Given the description of an element on the screen output the (x, y) to click on. 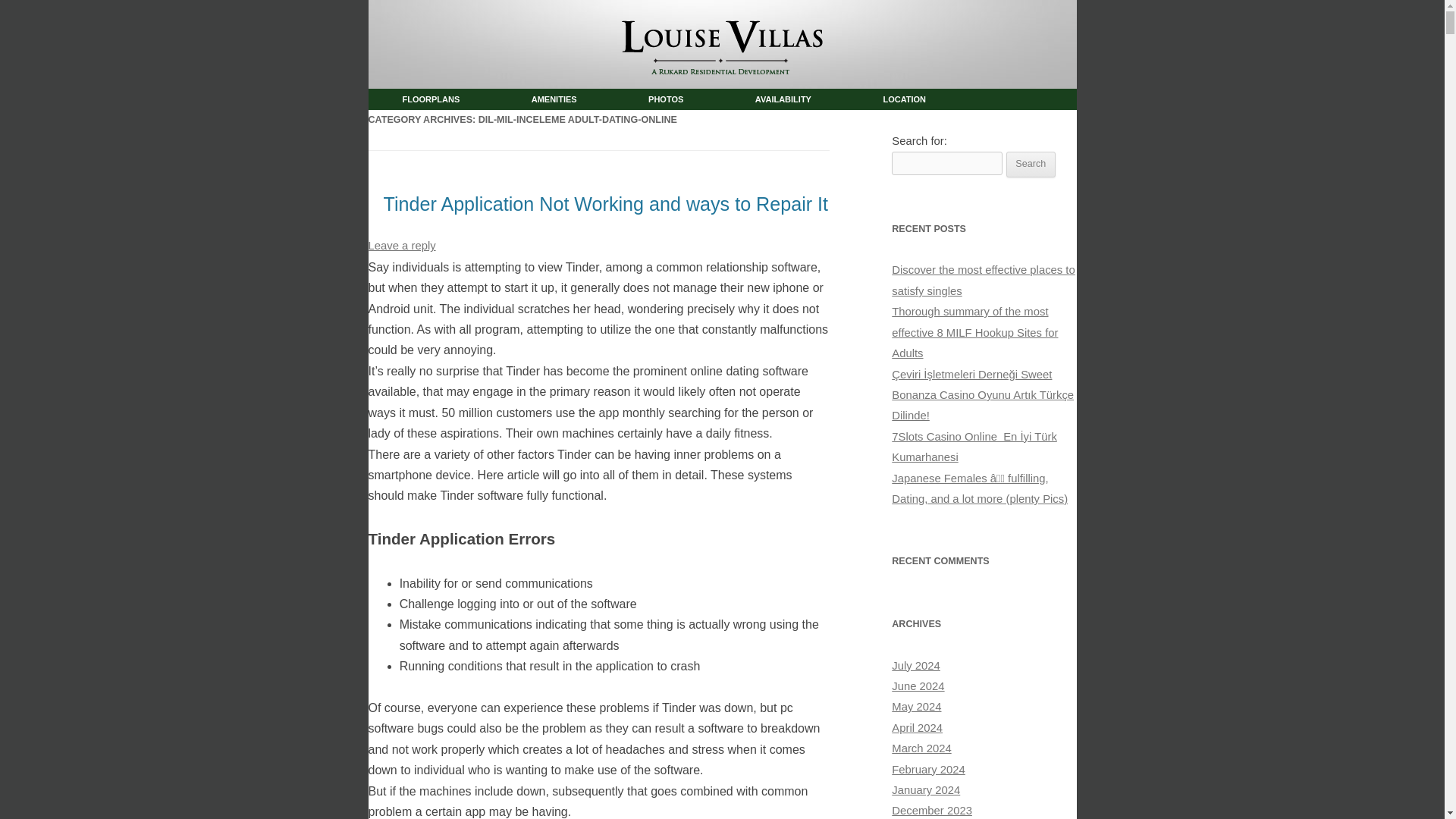
Tinder Application Not Working and ways to Repair It (606, 203)
AMENITIES (553, 98)
February 2024 (928, 769)
March 2024 (920, 748)
CONTACT US (428, 120)
June 2024 (917, 686)
AVAILABILITY (782, 98)
January 2024 (925, 789)
Search (1030, 164)
FLOORPLANS (430, 98)
April 2024 (916, 727)
PHOTOS (664, 98)
Search (1030, 164)
